Given the description of an element on the screen output the (x, y) to click on. 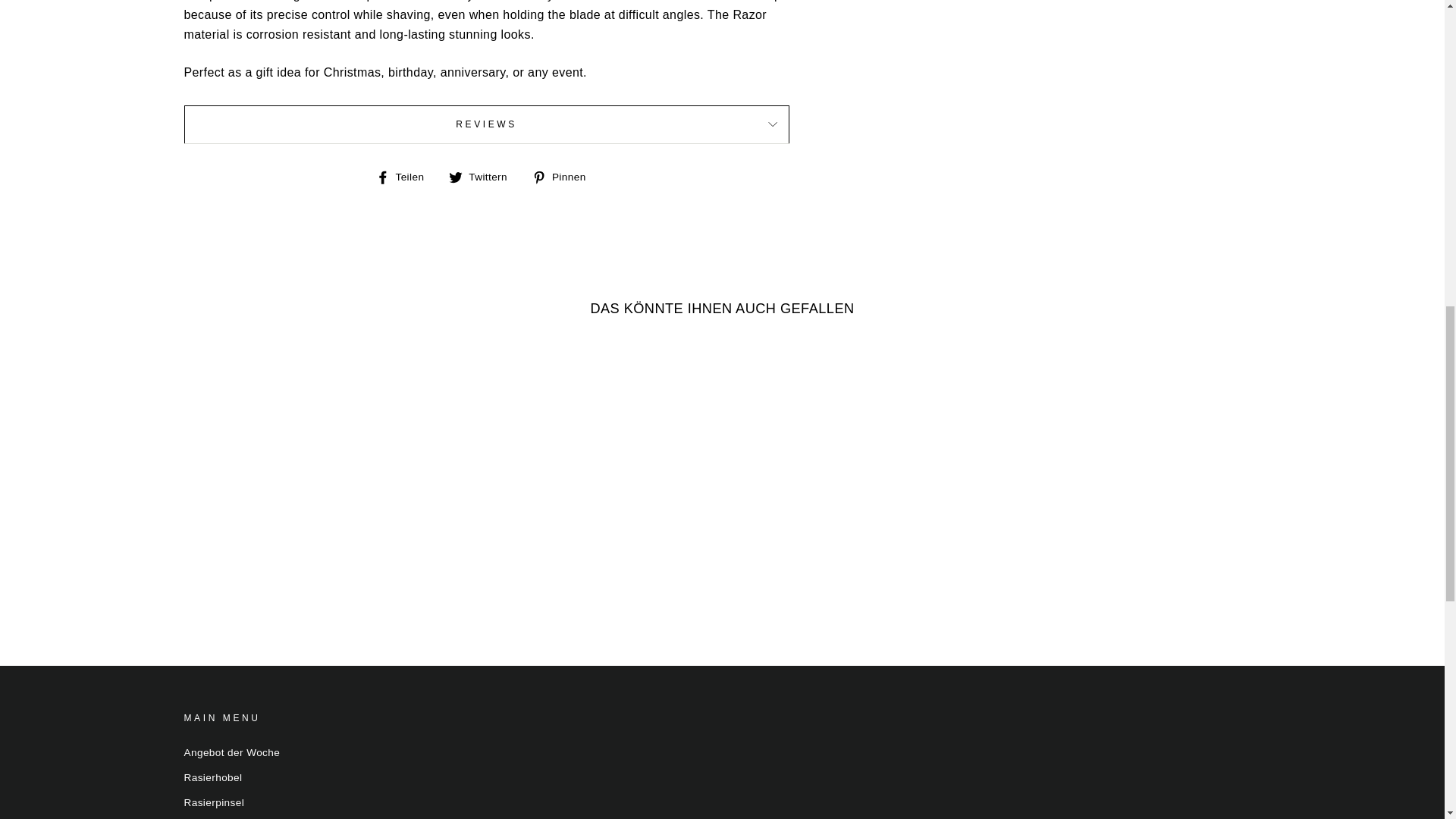
Auf Facebook teilen (405, 176)
Auf Pinterest pinnen (564, 176)
Auf Twitter twittern (483, 176)
